Given the description of an element on the screen output the (x, y) to click on. 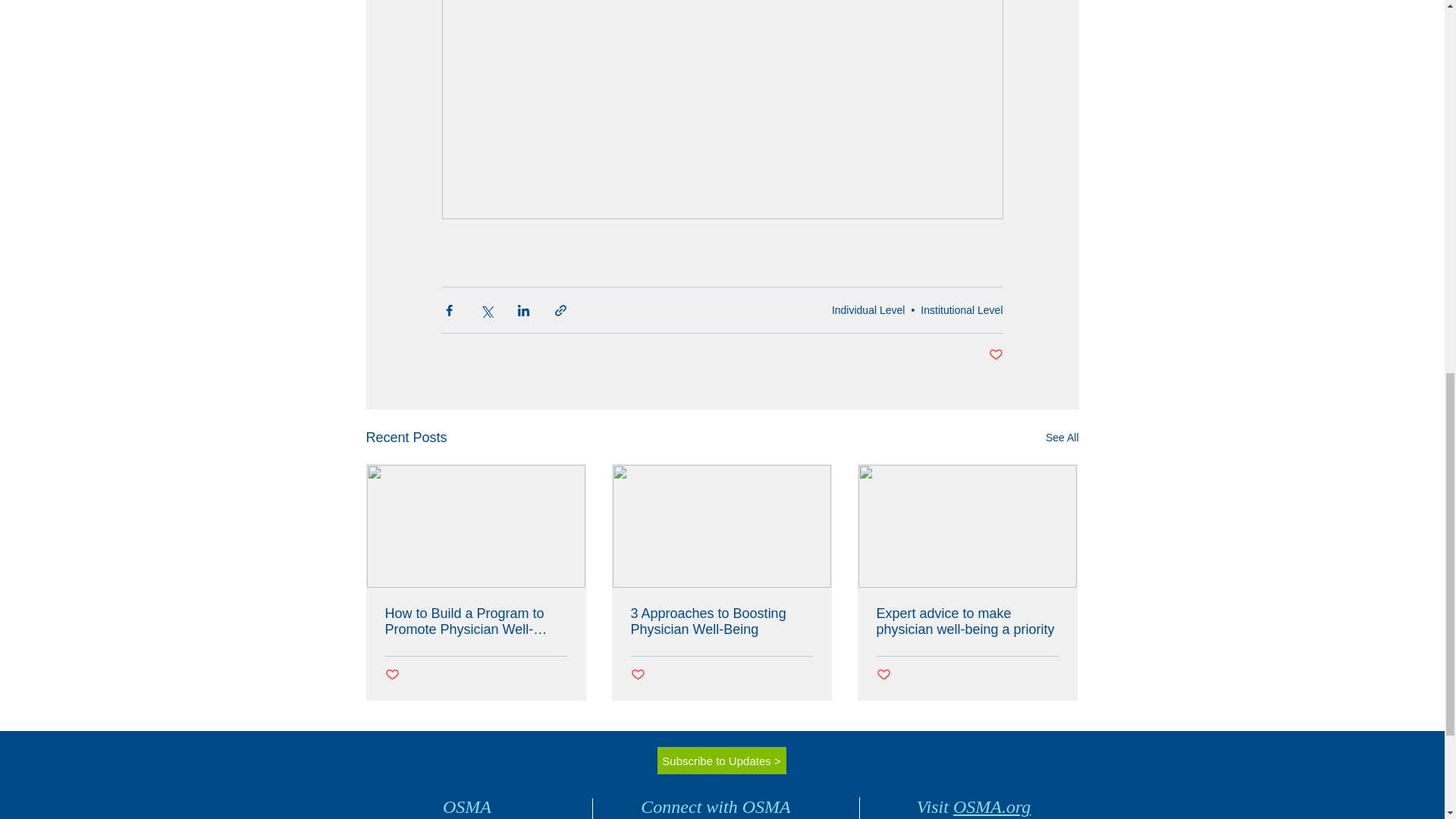
Post not marked as liked (995, 355)
Individual Level (868, 309)
How to Build a Program to Promote Physician Well-Being (476, 622)
Post not marked as liked (883, 675)
Post not marked as liked (391, 675)
Post not marked as liked (637, 675)
See All (1061, 437)
Institutional Level (961, 309)
3 Approaches to Boosting Physician Well-Being (721, 622)
Expert advice to make physician well-being a priority (967, 622)
